Given the description of an element on the screen output the (x, y) to click on. 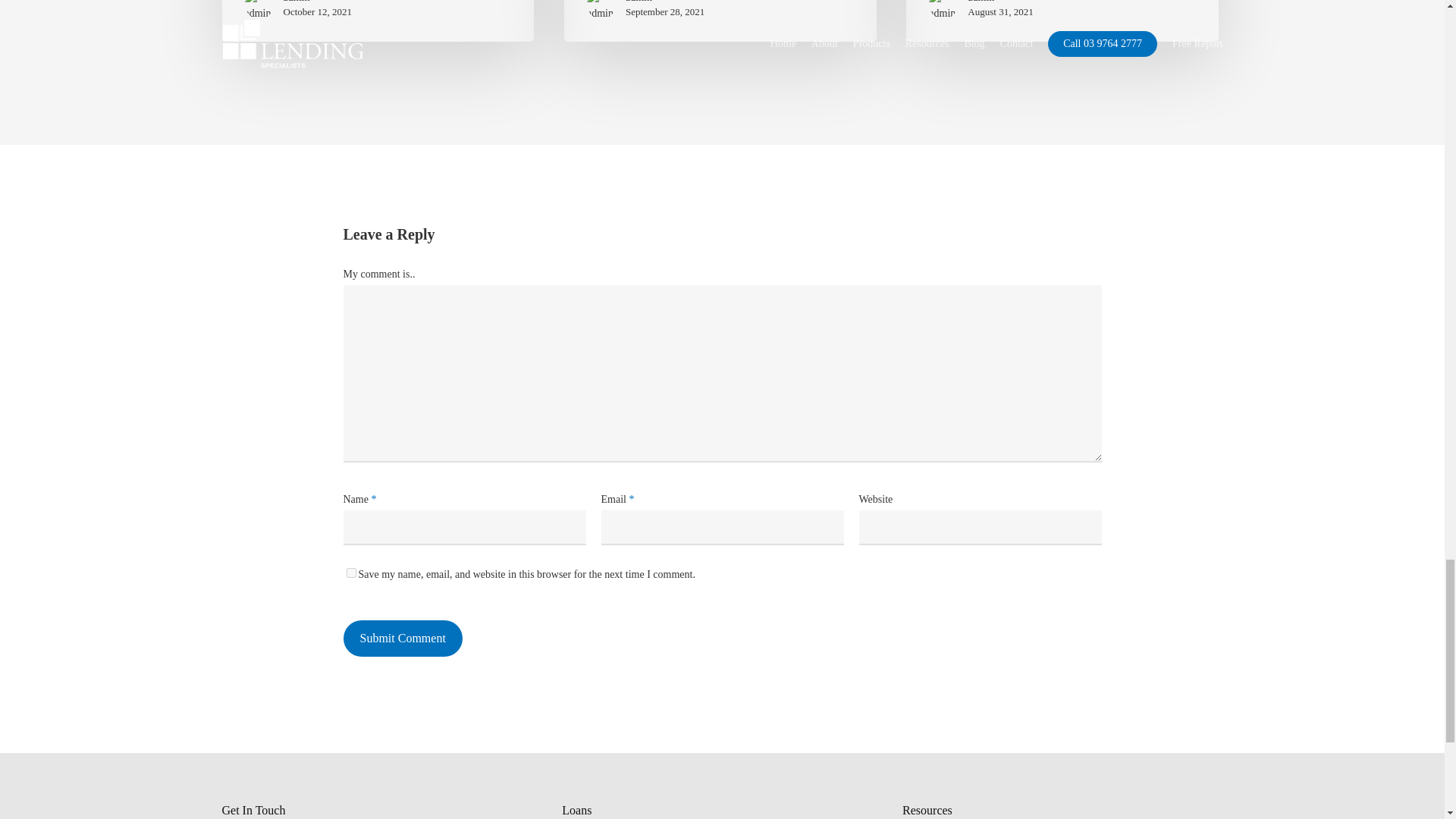
Submit Comment (401, 637)
yes (350, 573)
admin (317, 2)
